Given the description of an element on the screen output the (x, y) to click on. 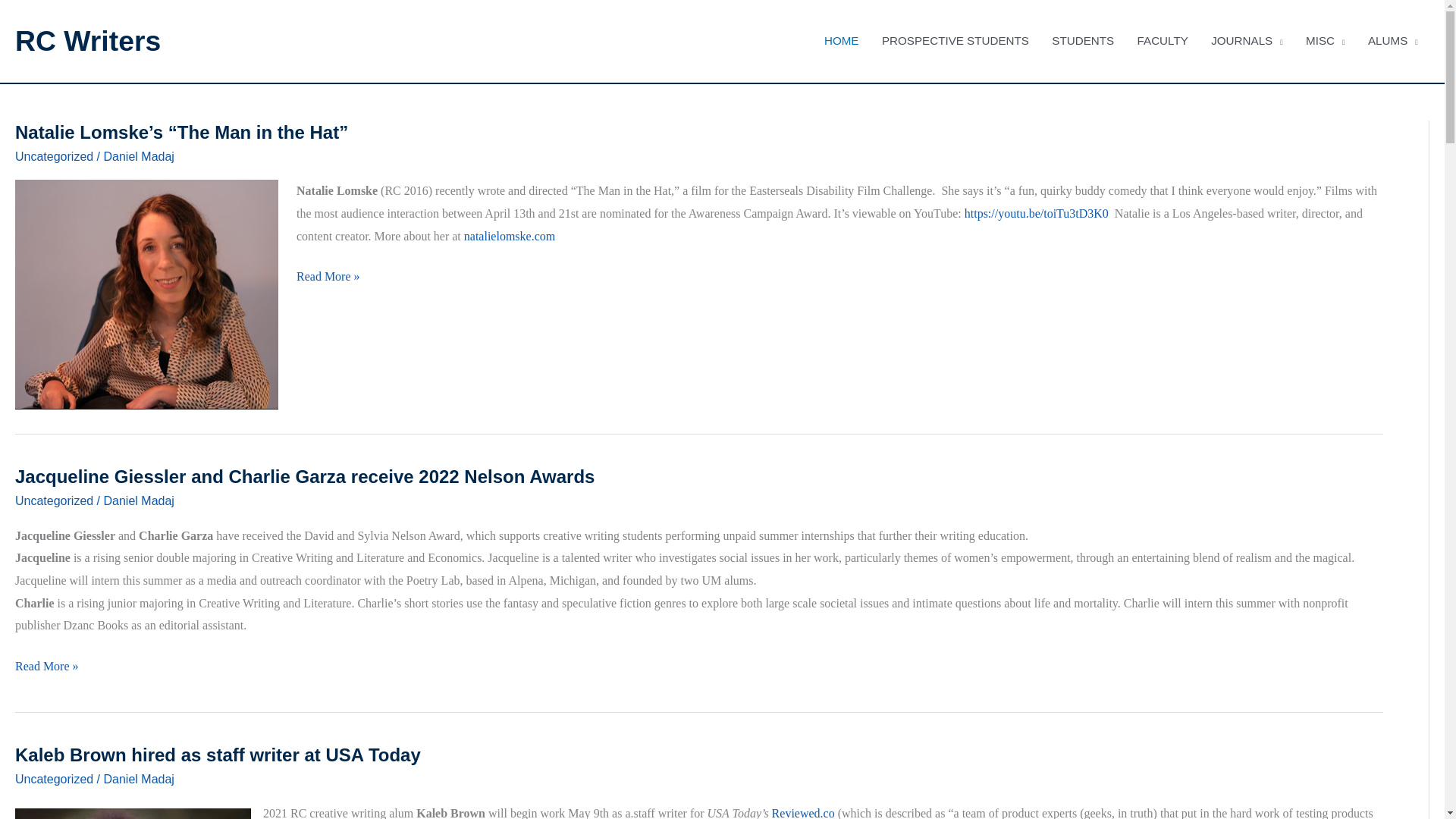
Reviewed.co (802, 812)
Uncategorized (53, 155)
View all posts by Daniel Madaj (138, 155)
Kaleb Brown hired as staff writer at USA Today (217, 754)
Uncategorized (53, 500)
STUDENTS (1083, 41)
HOME (841, 41)
Daniel Madaj (138, 778)
Uncategorized (53, 778)
Daniel Madaj (138, 500)
